Given the description of an element on the screen output the (x, y) to click on. 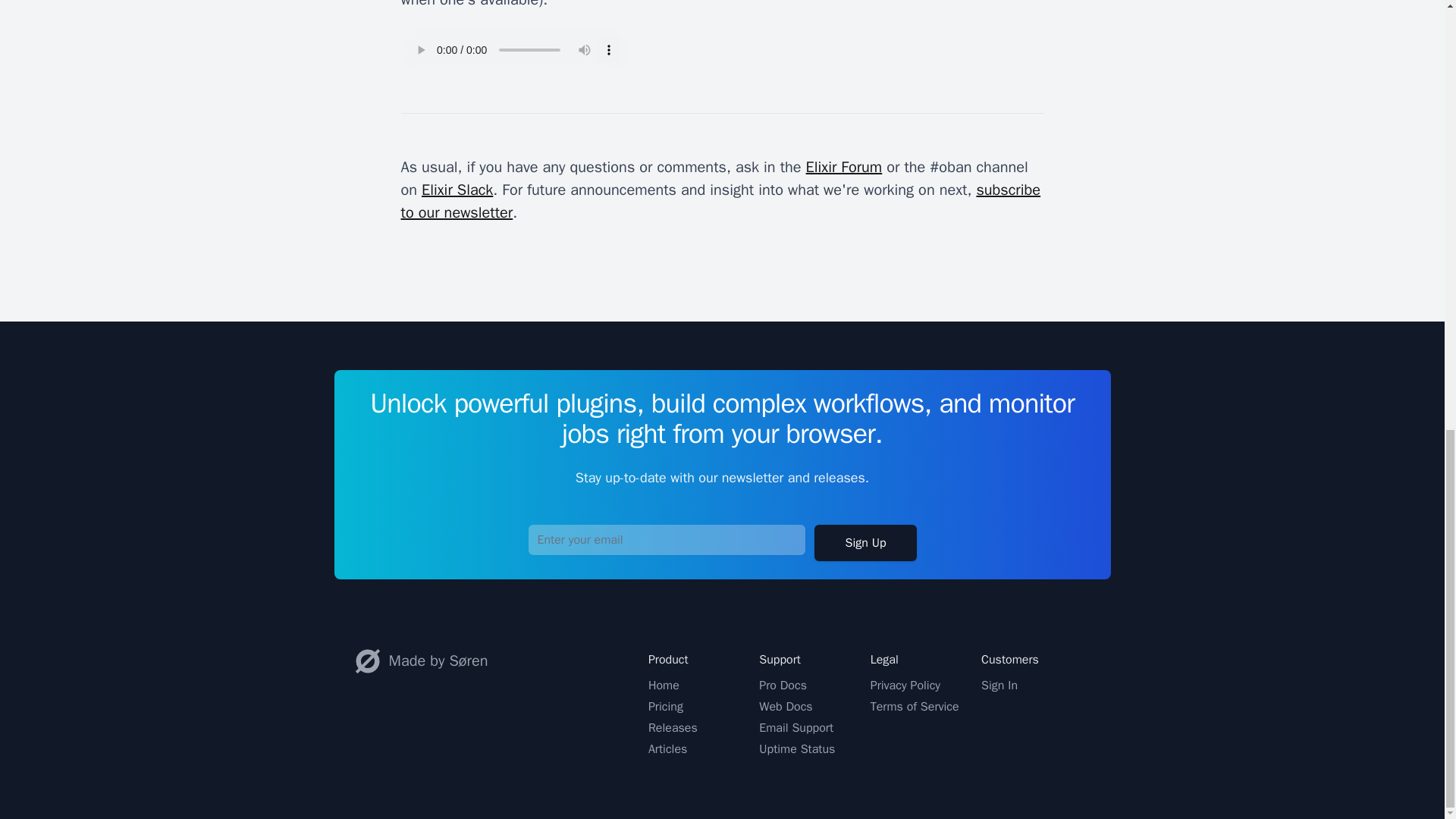
Pricing (664, 706)
Home (663, 685)
subscribe to our newsletter (720, 200)
Email Support (795, 727)
Elixir Slack (457, 189)
Elixir Forum (844, 167)
Web Docs (785, 706)
Releases (672, 727)
Articles (667, 749)
Sign Up (864, 542)
